Given the description of an element on the screen output the (x, y) to click on. 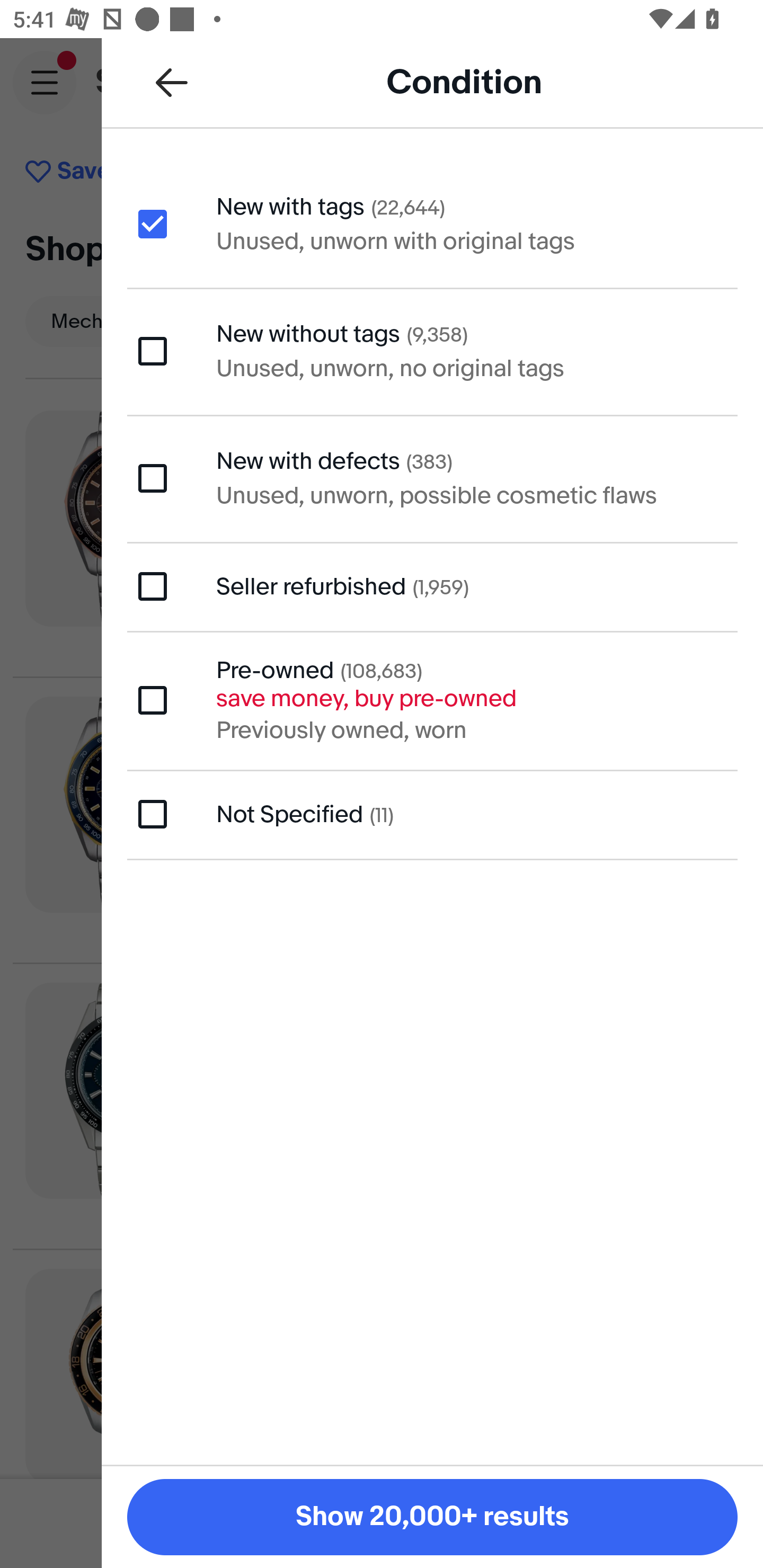
Back to all refinements (171, 81)
Seller refurbished (1,959) (432, 586)
Not Specified (11) (432, 814)
Show 20,000+ results (432, 1516)
